Given the description of an element on the screen output the (x, y) to click on. 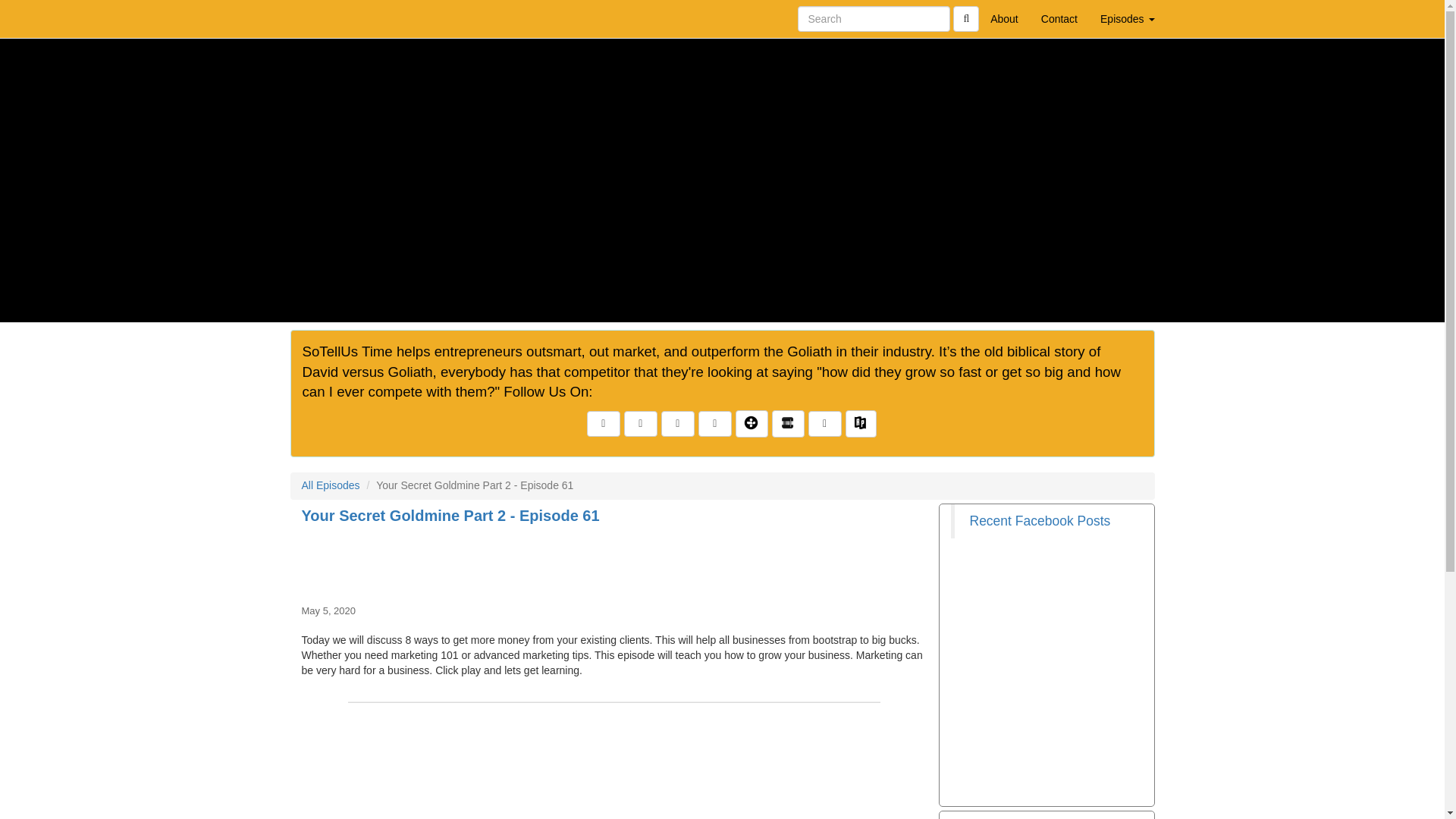
Listen on Radio Public (861, 423)
Subscribe to RSS Feed (677, 423)
Email This Podcast (641, 423)
Listen on Spotify (824, 423)
Your Secret Goldmine Part 2 - Episode 61 (614, 561)
About (1003, 18)
Listen on Stitcher (788, 423)
Contact (1059, 18)
Visit Us on Facebook (603, 423)
Episodes (1127, 18)
Listen on Apple Podcasts (715, 423)
Listen on TuneIn (751, 423)
Home Page (320, 18)
